Given the description of an element on the screen output the (x, y) to click on. 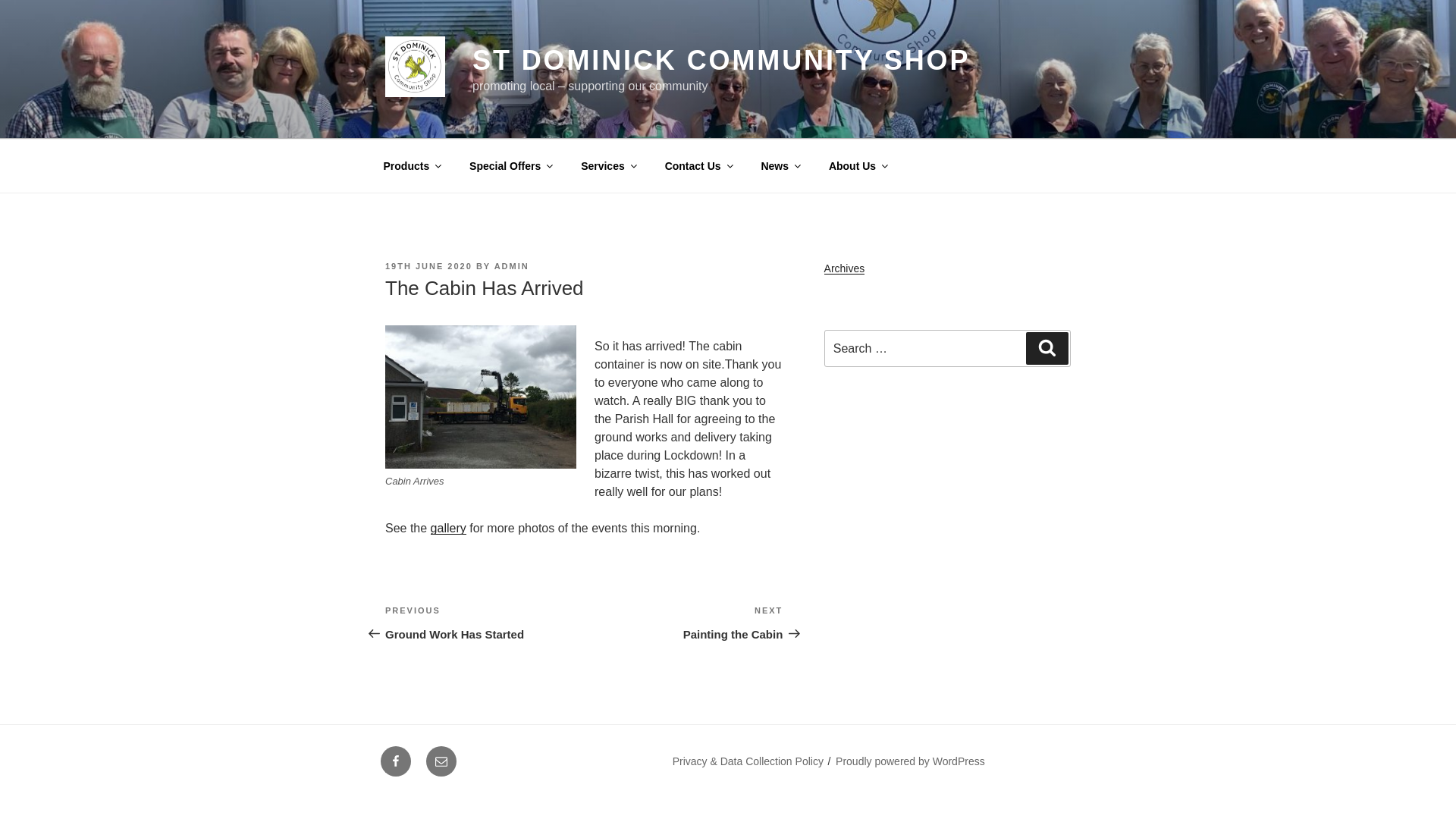
ST DOMINICK COMMUNITY SHOP (720, 60)
Services (608, 165)
Contact Us (697, 165)
Special Offers (510, 165)
About Us (857, 165)
Products (410, 165)
News (780, 165)
